Given the description of an element on the screen output the (x, y) to click on. 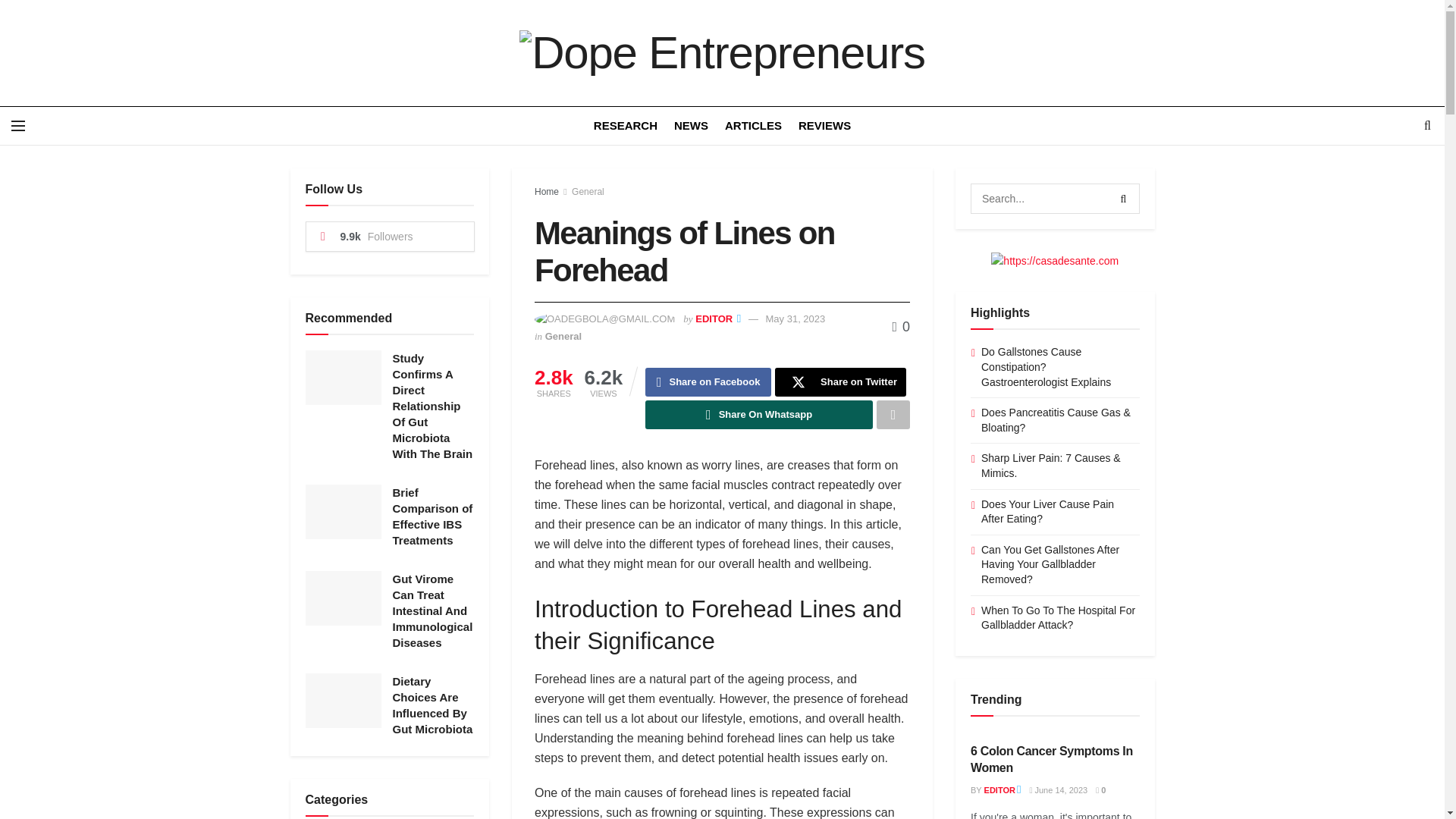
NEWS (690, 125)
REVIEWS (823, 125)
Home (546, 191)
EDITOR (713, 318)
General (588, 191)
May 31, 2023 (795, 318)
General (562, 336)
Share On Whatsapp (758, 414)
ARTICLES (753, 125)
Share on Facebook (708, 381)
RESEARCH (626, 125)
0 (900, 326)
Share on Twitter (839, 381)
